Given the description of an element on the screen output the (x, y) to click on. 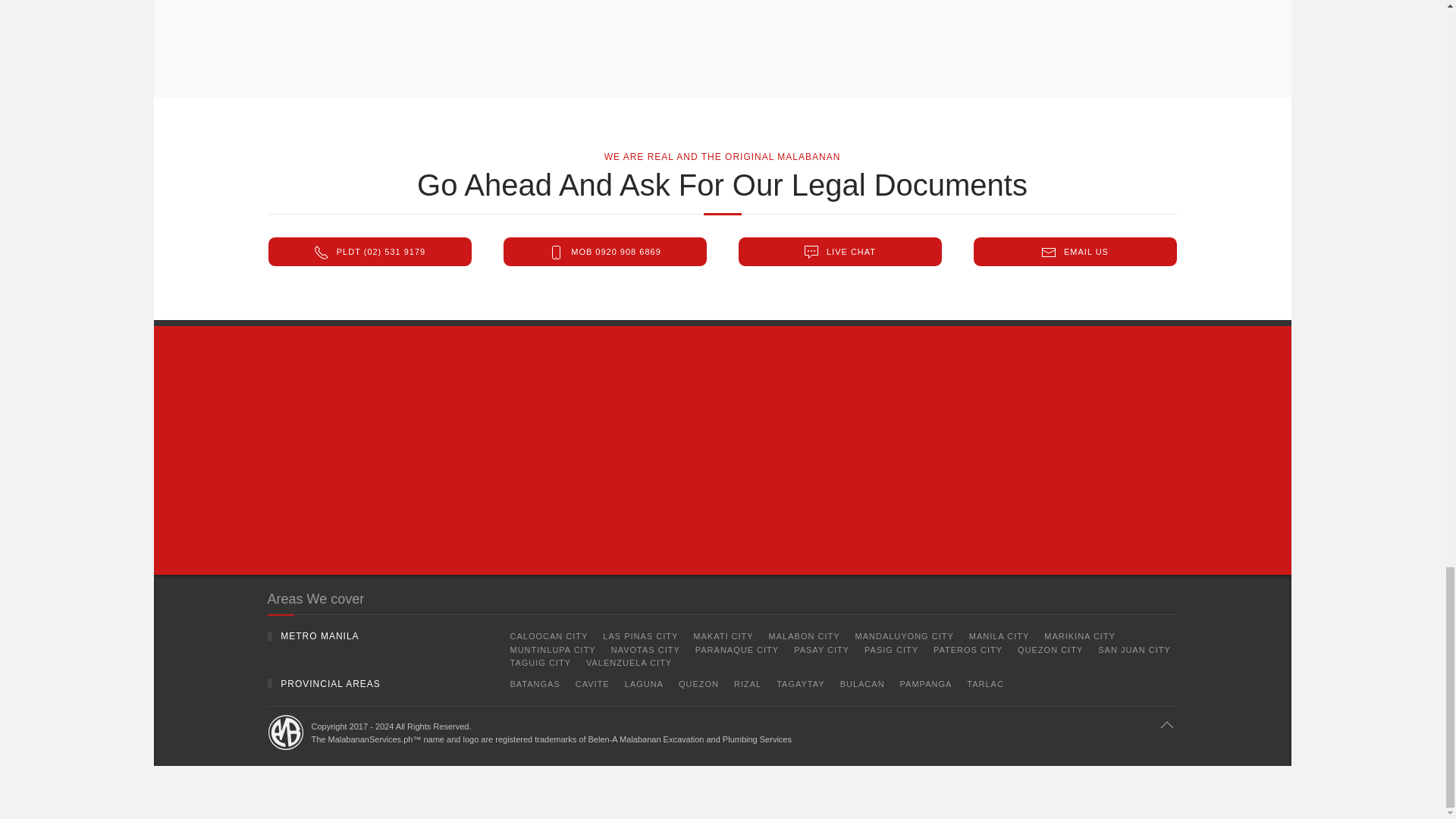
MOB 0920 908 6869 (604, 251)
LIVE CHAT (839, 251)
EMAIL US (1074, 251)
